Given the description of an element on the screen output the (x, y) to click on. 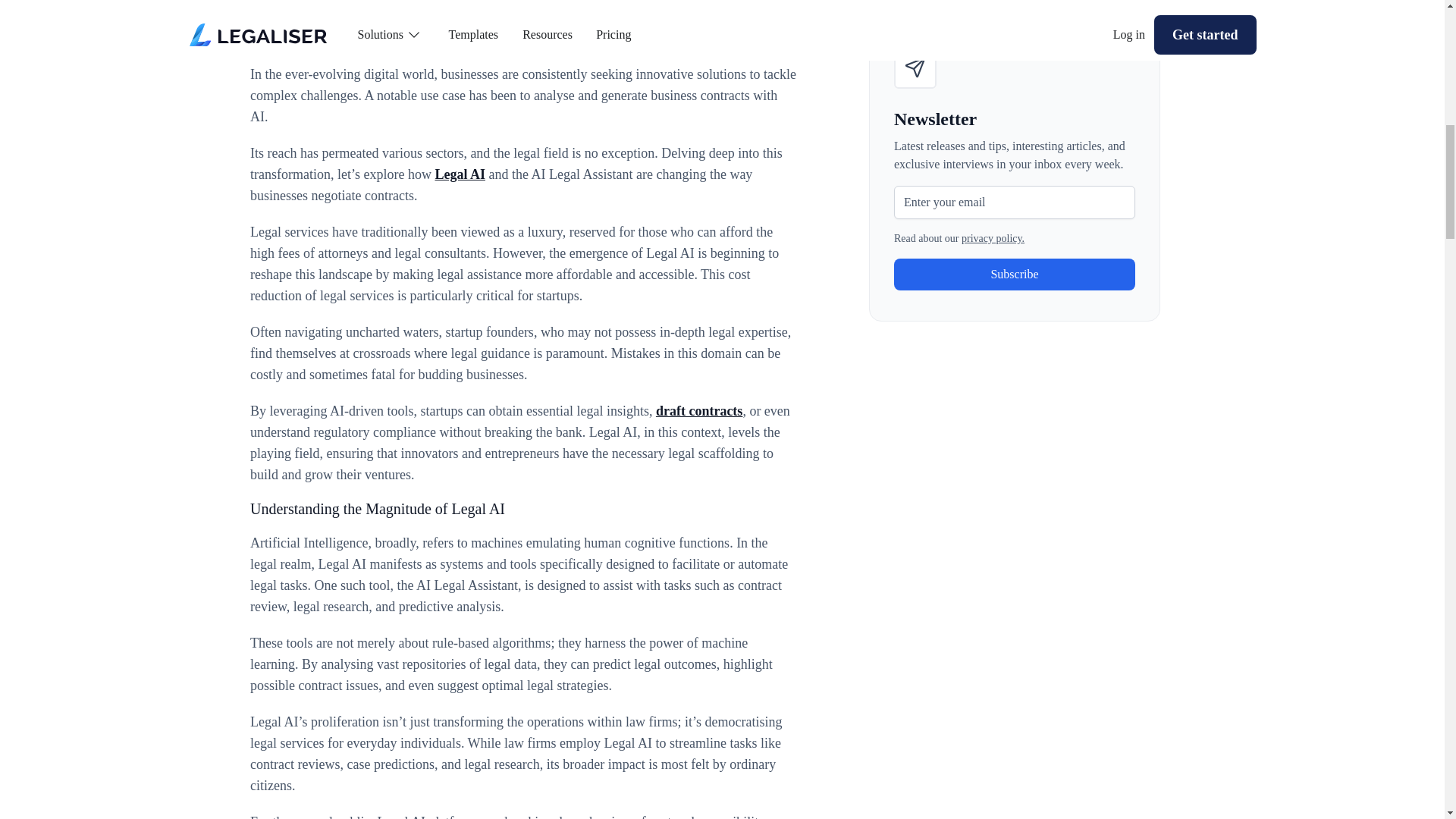
draft contracts (699, 410)
Legal AI (458, 174)
Subscribe (1014, 274)
privacy policy. (992, 238)
